Given the description of an element on the screen output the (x, y) to click on. 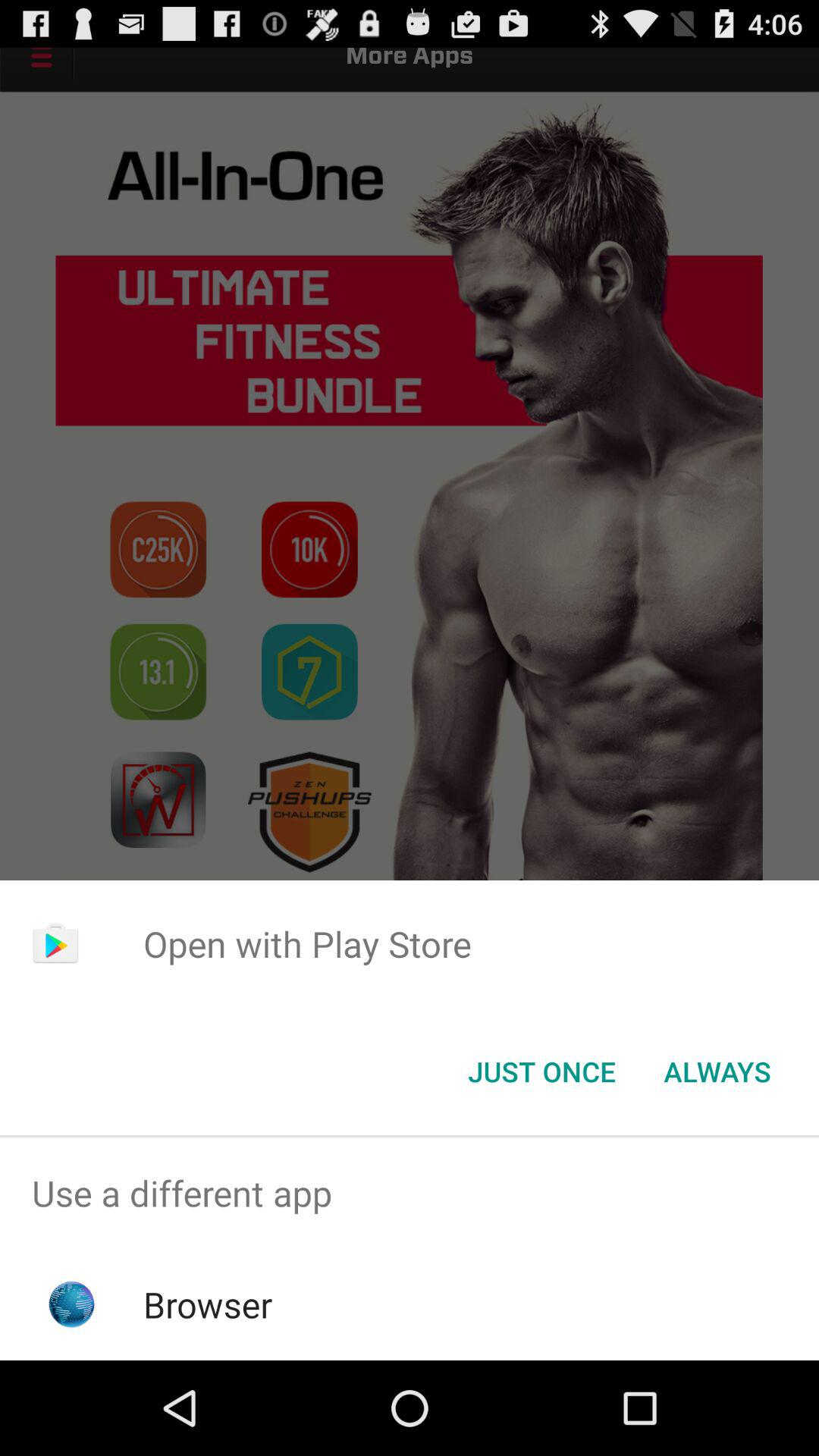
choose the browser (207, 1304)
